Given the description of an element on the screen output the (x, y) to click on. 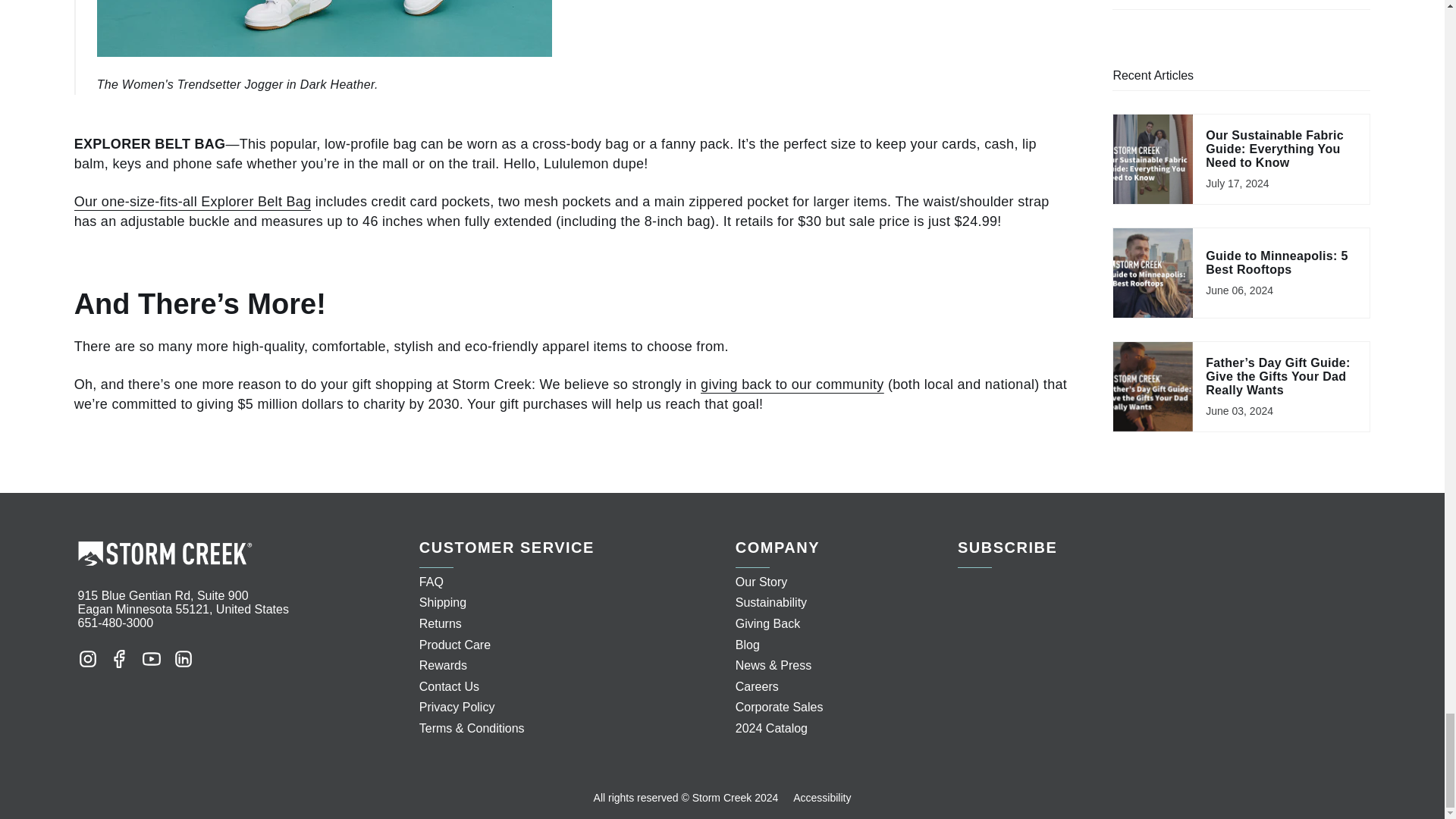
Storm Creek on YouTube (150, 658)
Storm Creek on Facebook (119, 658)
Storm Creek on Linkedin (182, 658)
Storm Creek on Instagram (87, 658)
